Given the description of an element on the screen output the (x, y) to click on. 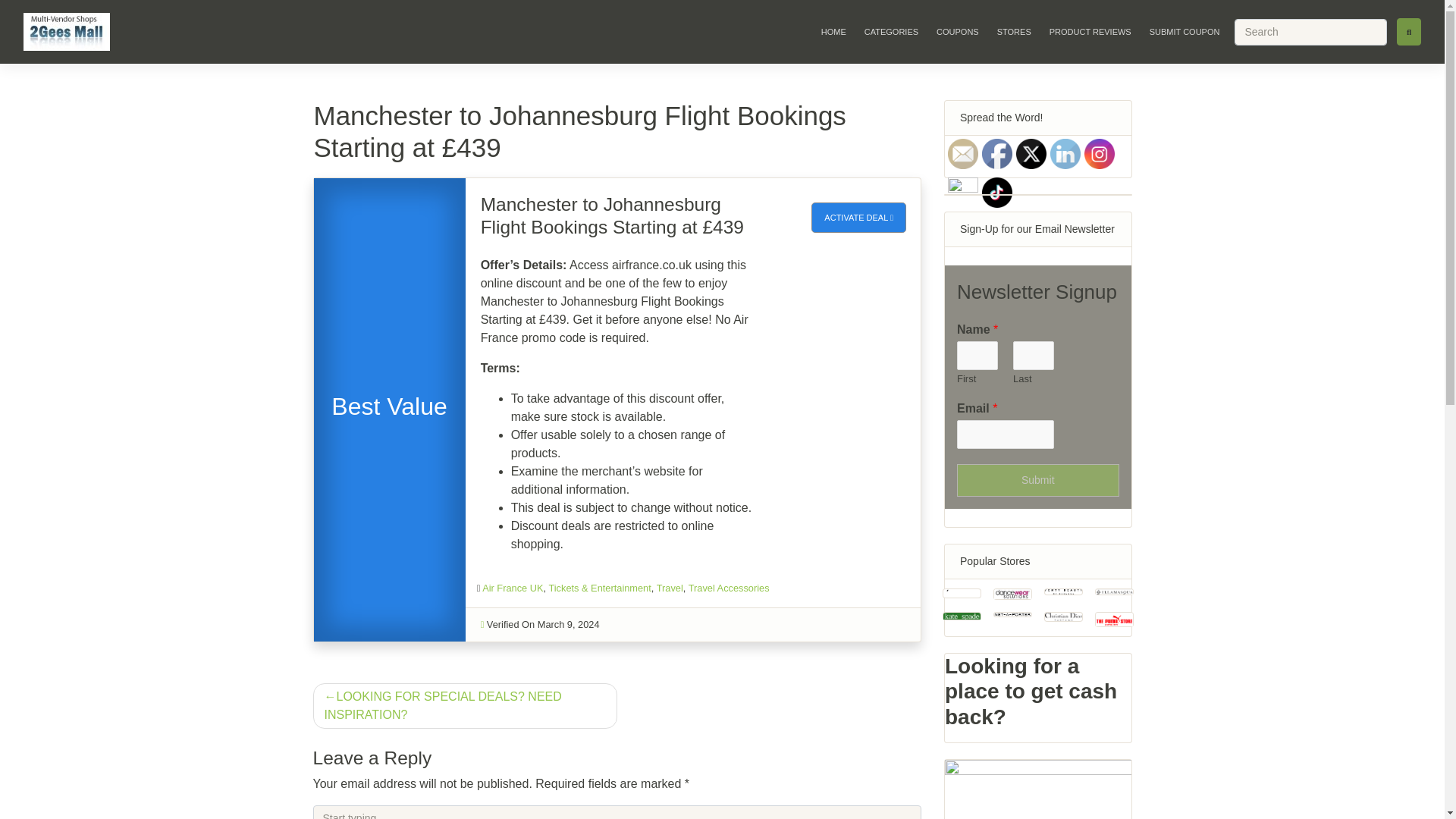
Coupons (957, 31)
HOME (833, 31)
Twitter (1031, 153)
Home (833, 31)
PRODUCT REVIEWS (1090, 31)
Product Reviews (1090, 31)
Instagram (1099, 153)
Submit Coupon (1183, 31)
COUPONS (957, 31)
Travel Accessories (729, 587)
